Given the description of an element on the screen output the (x, y) to click on. 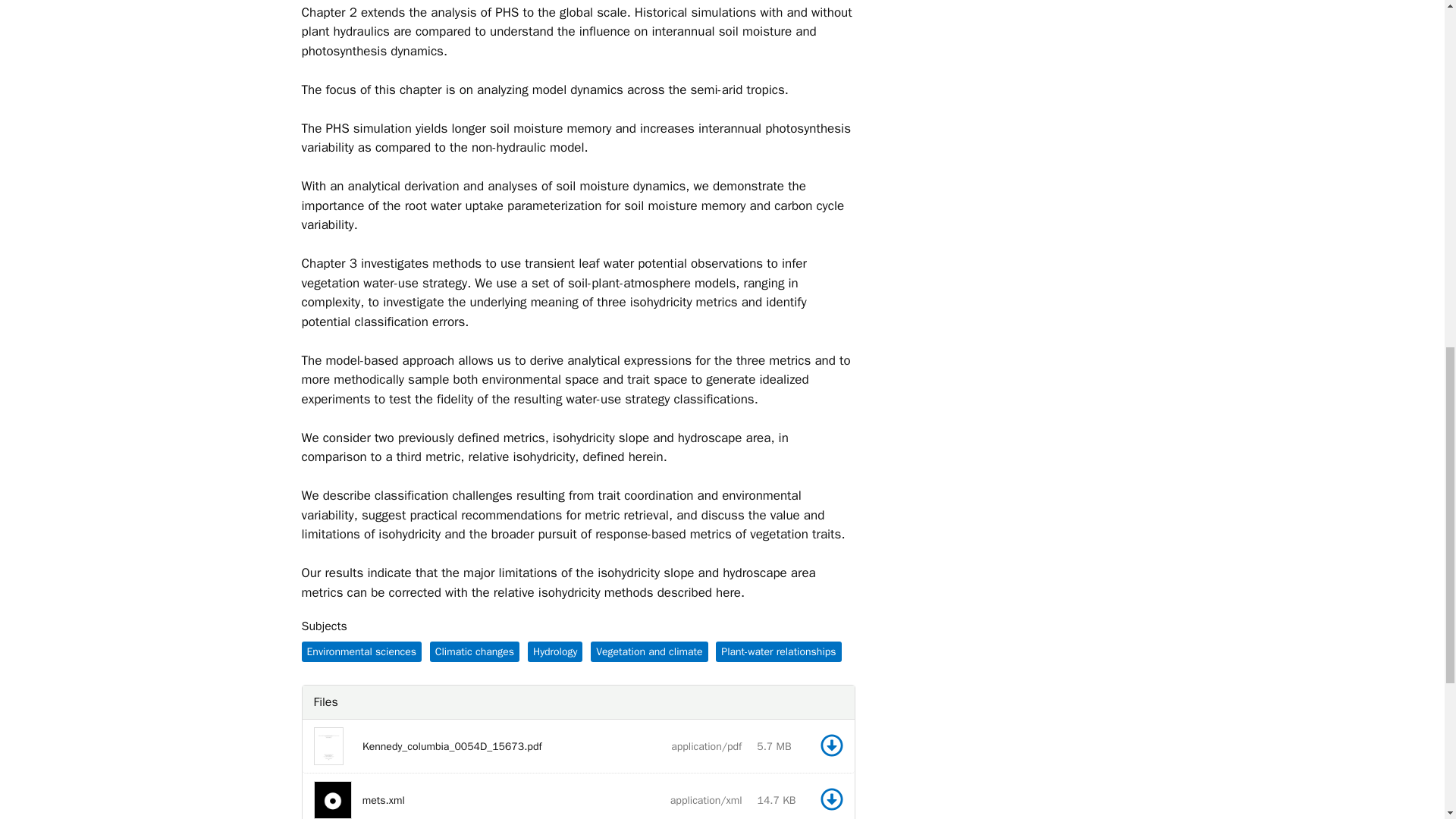
Environmental sciences (361, 651)
Download file (832, 798)
Download file (832, 798)
Download file (832, 746)
Plant-water relationships (832, 744)
Download file (832, 799)
Climatic changes (778, 651)
Vegetation and climate (832, 744)
Hydrology (474, 651)
